Given the description of an element on the screen output the (x, y) to click on. 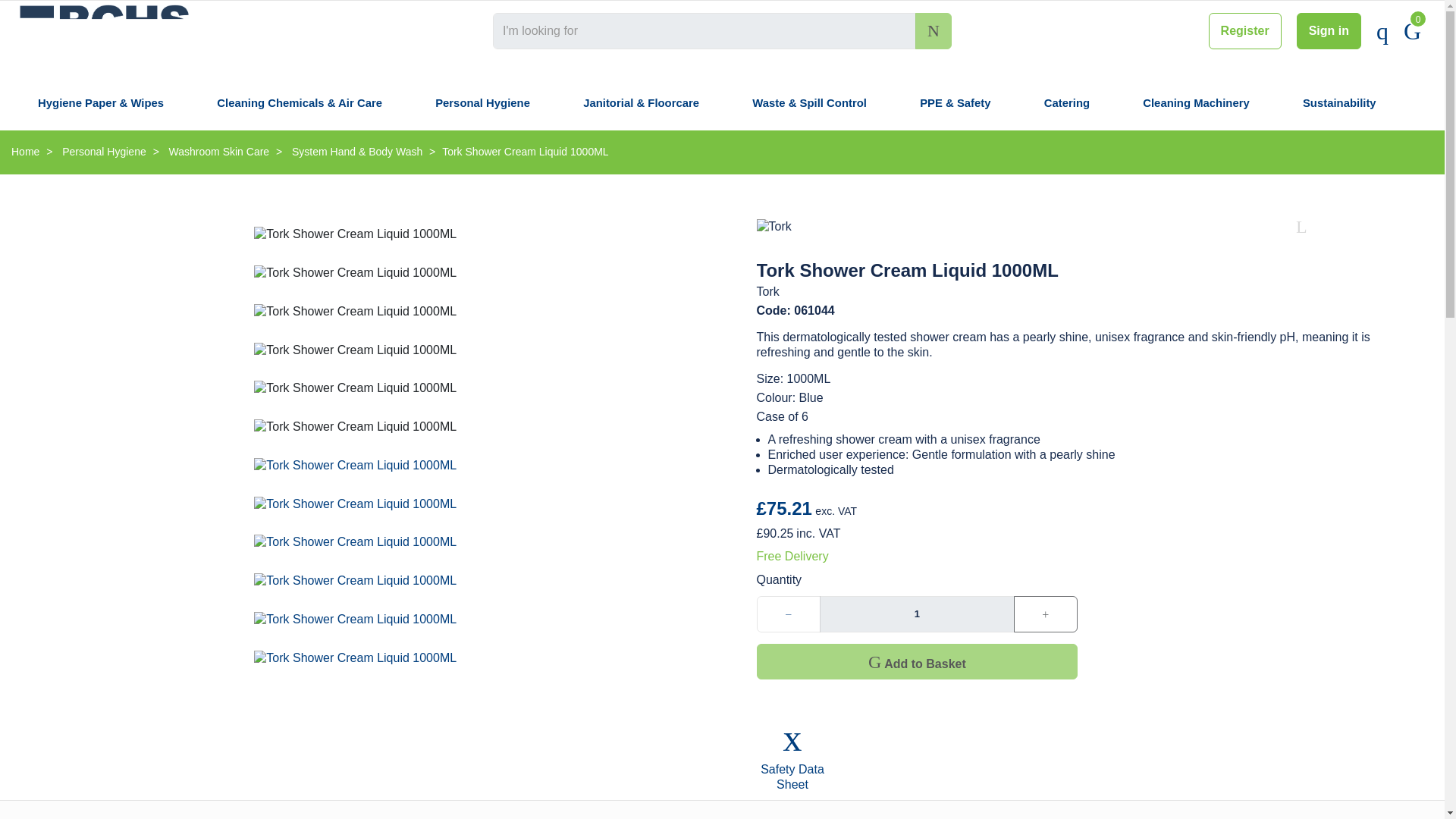
1 (916, 614)
Sign in (1329, 31)
Register (1244, 31)
